Given the description of an element on the screen output the (x, y) to click on. 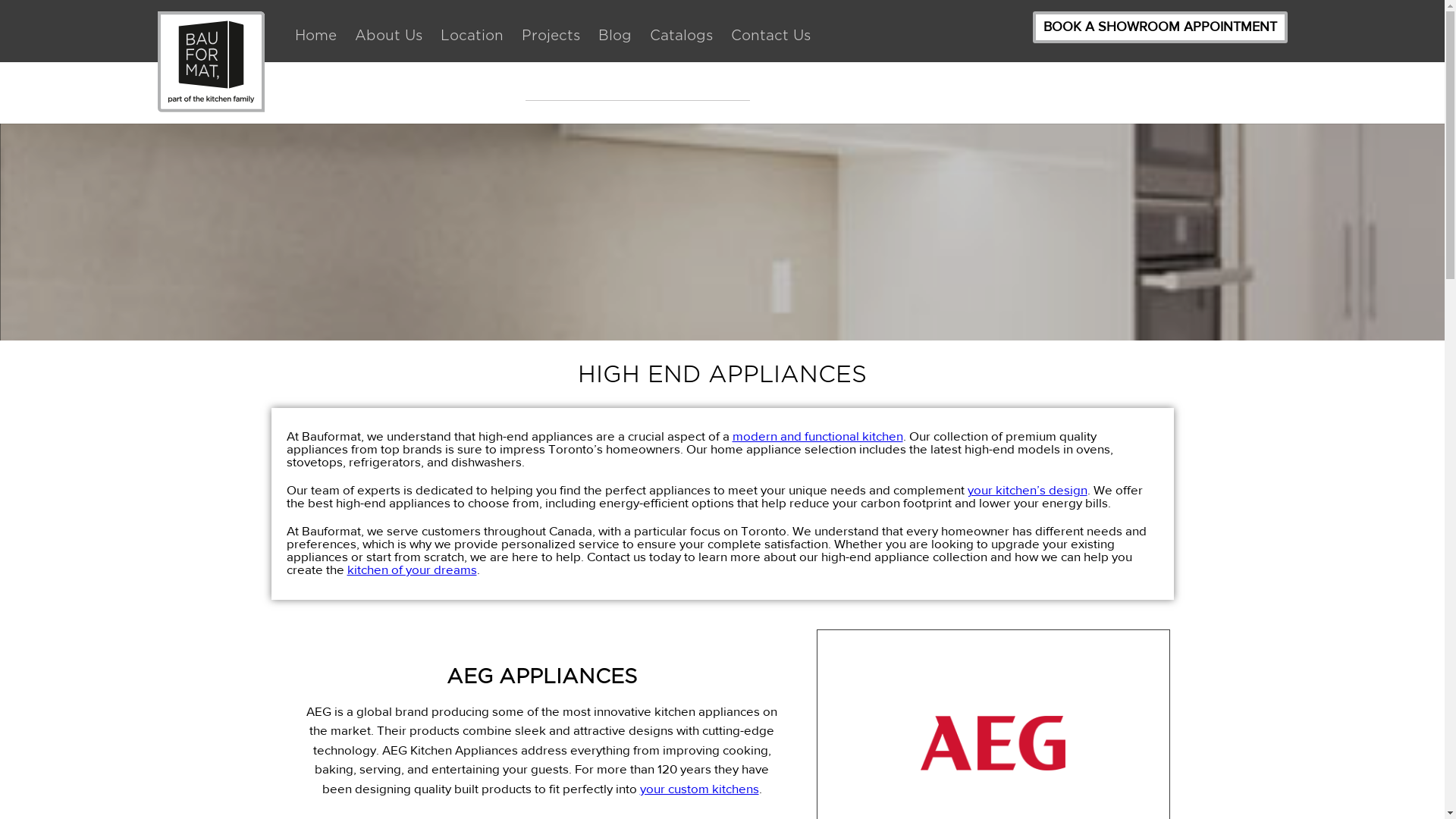
Bauformat Element type: text (210, 61)
About Us Element type: text (388, 35)
BATHROOMS Element type: text (458, 86)
Blog Element type: text (613, 35)
modern and functional kitchen Element type: text (817, 436)
your custom kitchens Element type: text (699, 789)
Projects Element type: text (550, 35)
BOOK A SHOWROOM APPOINTMENT Element type: text (1159, 27)
KITCHENS Element type: text (339, 86)
Catalogs Element type: text (680, 35)
Location Element type: text (471, 35)
HIGH END APPLIANCES Element type: text (636, 86)
Contact Us Element type: text (770, 35)
Home Element type: text (314, 35)
kitchen of your dreams Element type: text (411, 569)
